Given the description of an element on the screen output the (x, y) to click on. 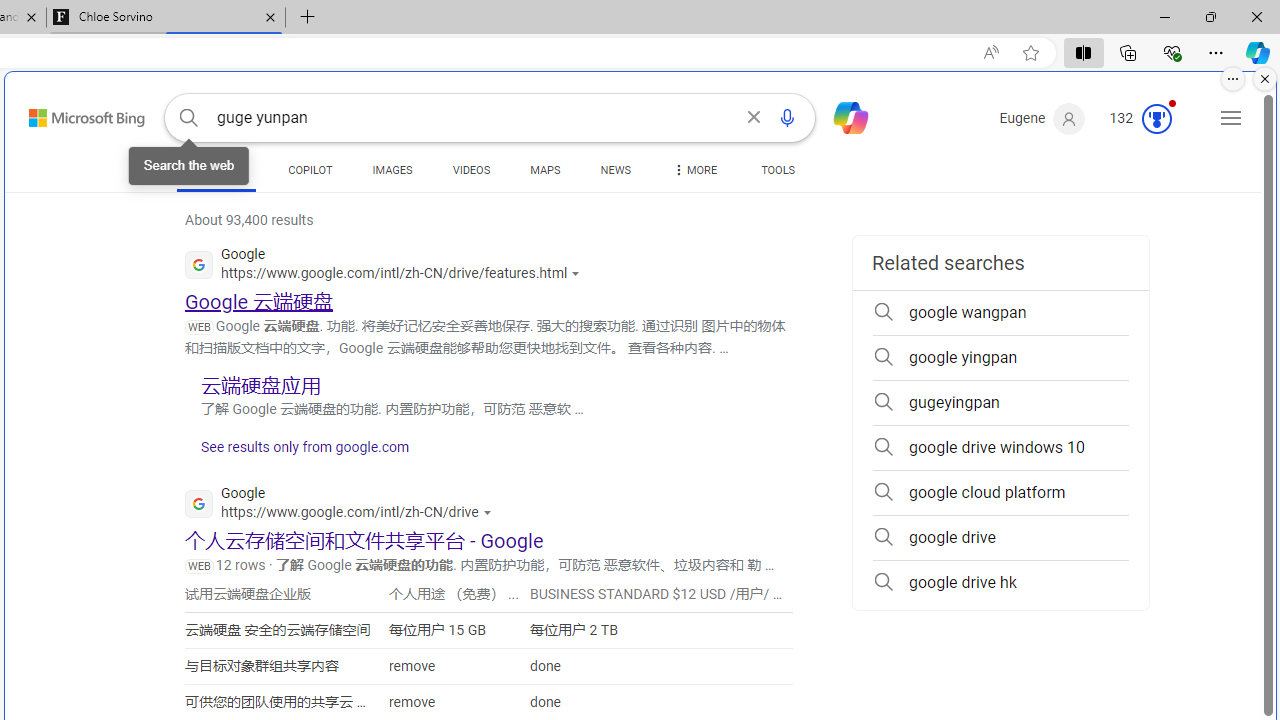
Microsoft Rewards 123 (1142, 119)
IMAGES (392, 173)
